Given the description of an element on the screen output the (x, y) to click on. 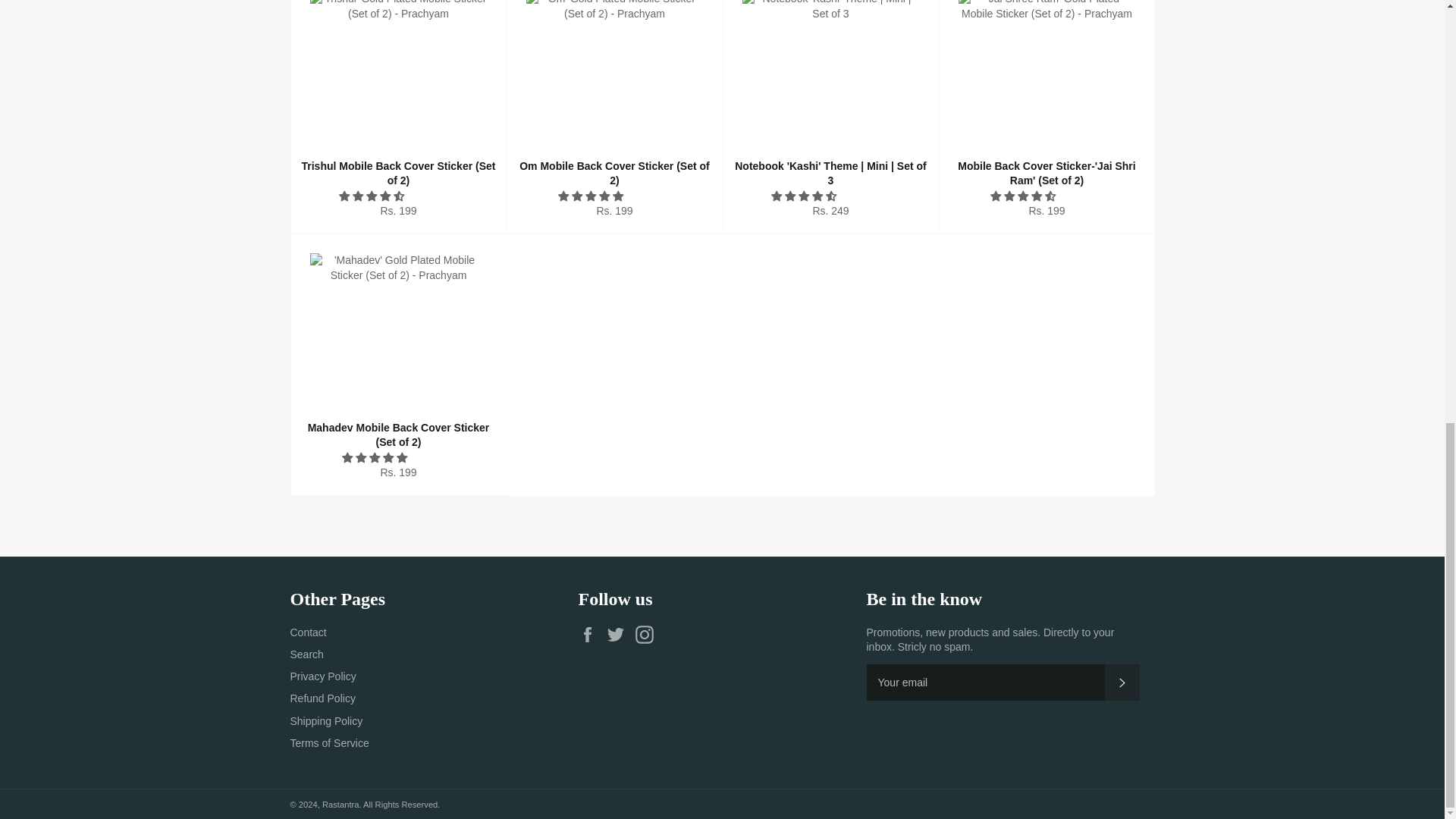
Rastantra on Twitter (619, 634)
Rastantra on Facebook (591, 634)
Rastantra on Instagram (647, 634)
